Given the description of an element on the screen output the (x, y) to click on. 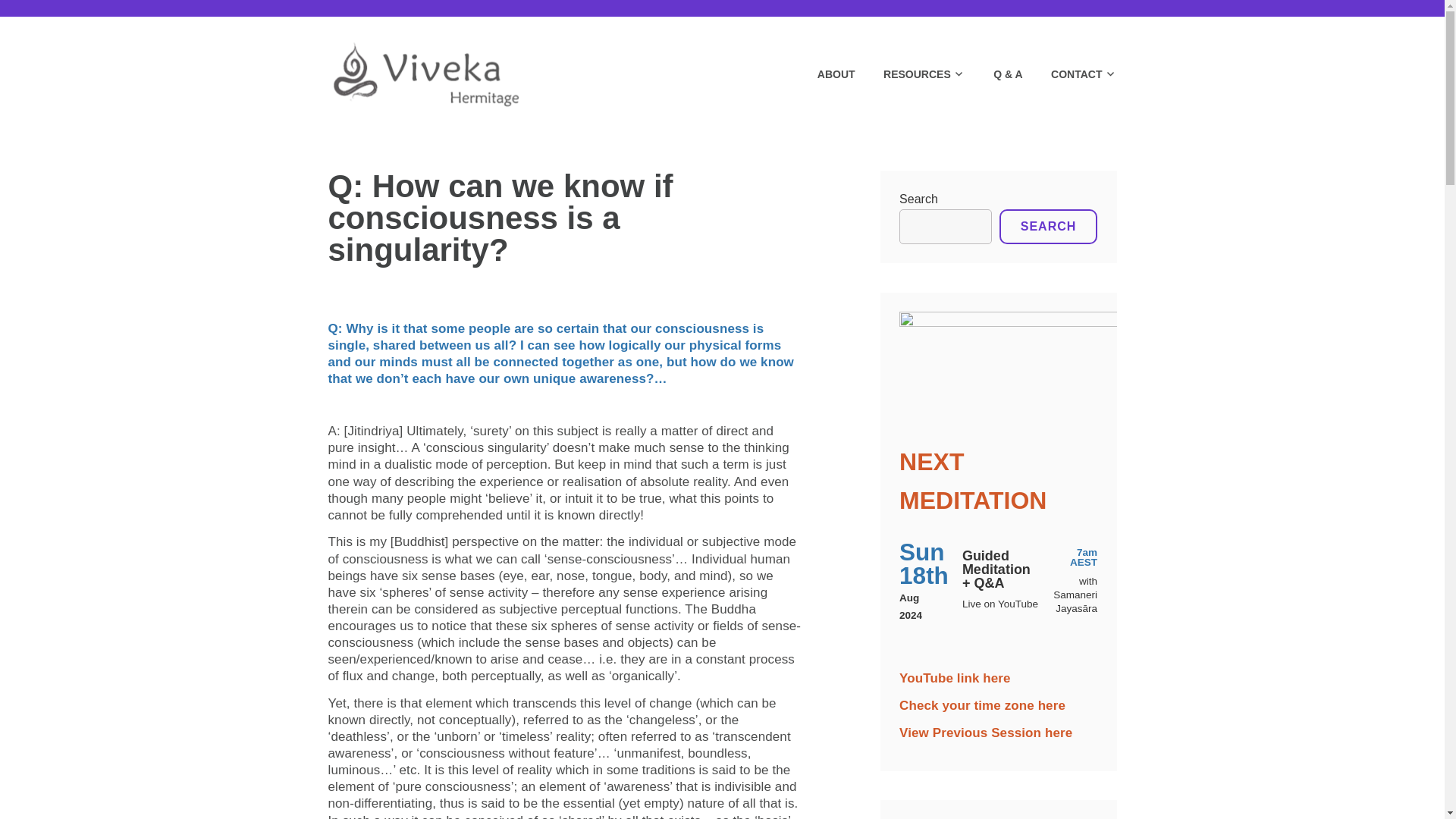
ABOUT (823, 74)
View Previous Session here (985, 732)
YouTube link here (954, 677)
RESOURCES (910, 74)
CONTACT (1070, 74)
Check your time zone here (982, 705)
SEARCH (1047, 226)
